Given the description of an element on the screen output the (x, y) to click on. 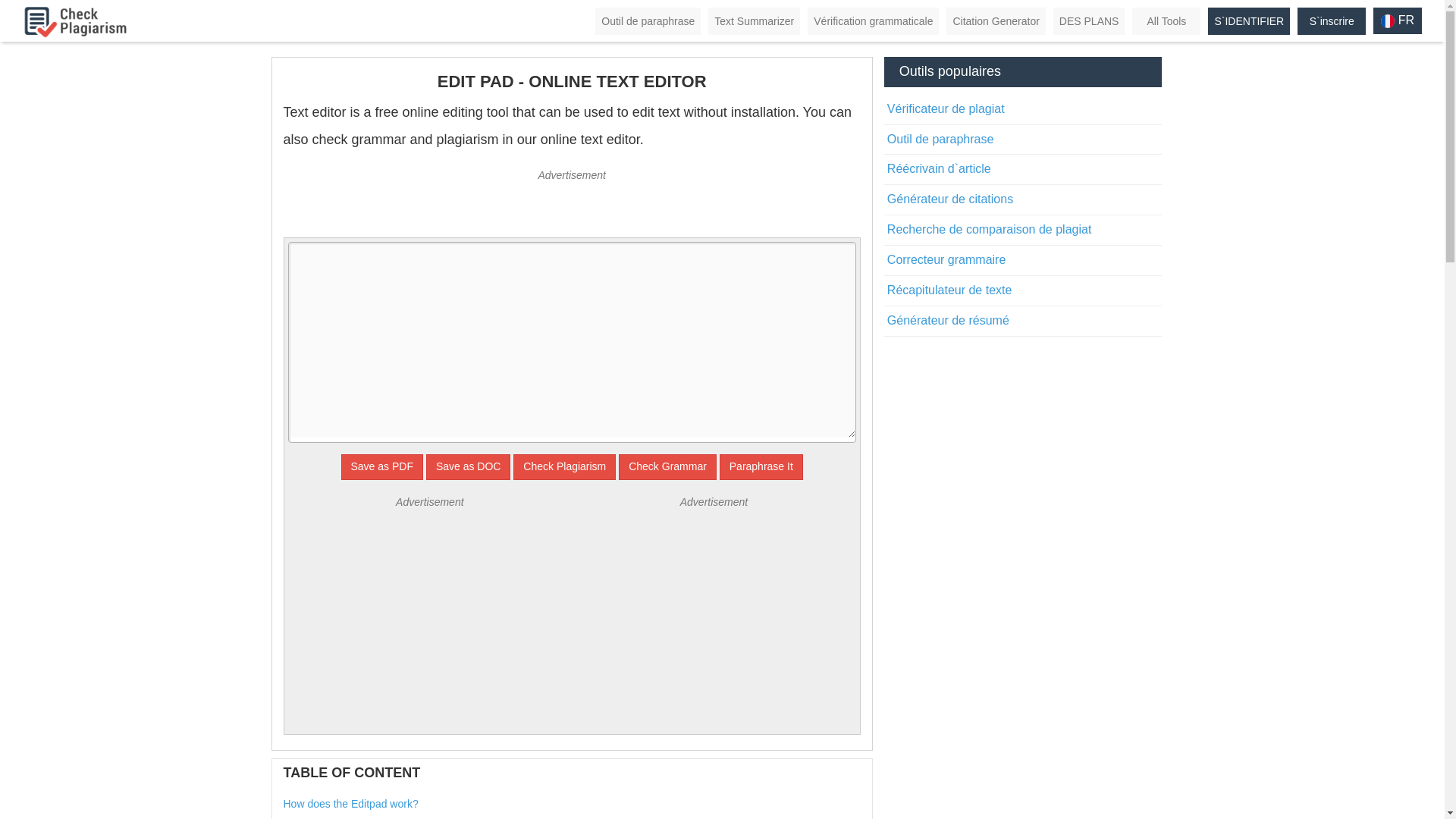
Paraphrase It (761, 466)
Outil de paraphrase (647, 21)
DES PLANS (1088, 21)
Save as PDF (381, 466)
Text Summarizer (753, 21)
FR (1397, 20)
All Tools (1165, 21)
Save as DOC (468, 466)
Citation Generator (995, 21)
